Given the description of an element on the screen output the (x, y) to click on. 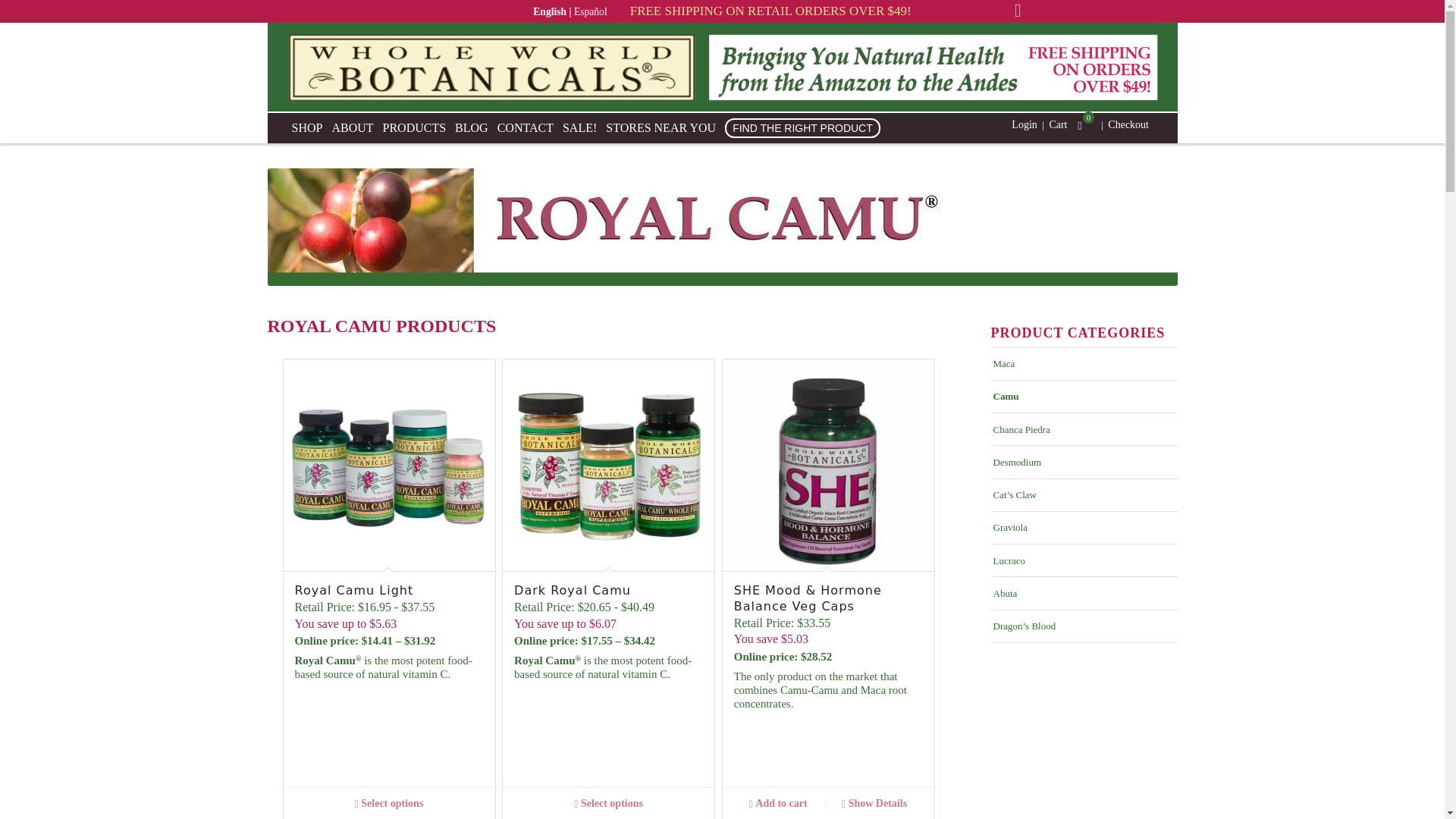
0 (1079, 126)
ABOUT (356, 128)
Royal-Camu (721, 226)
Checkout (1128, 124)
Login (1023, 124)
SHOP (311, 128)
Cart (1057, 124)
English (552, 11)
